Given the description of an element on the screen output the (x, y) to click on. 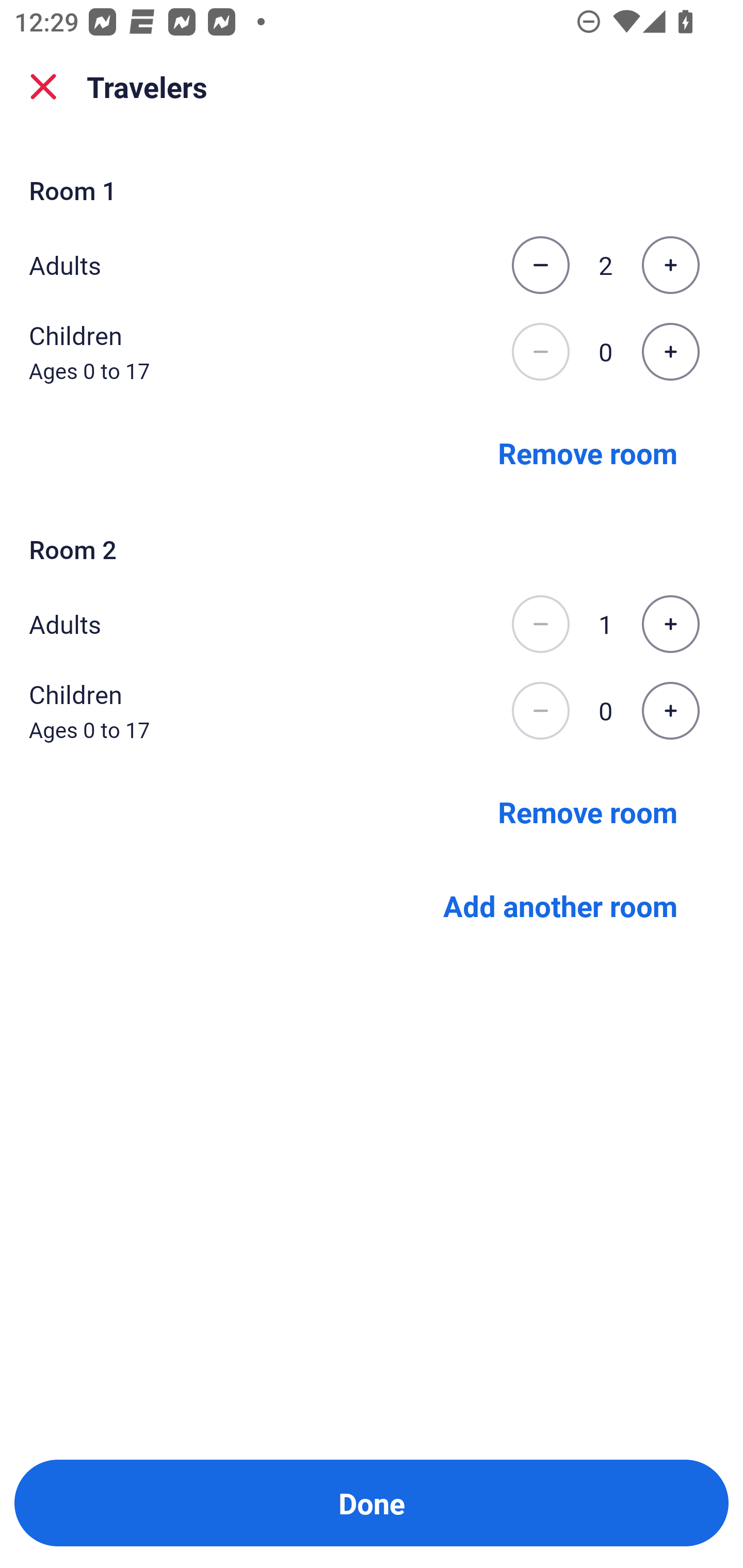
close (43, 86)
Decrease the number of adults (540, 264)
Increase the number of adults (670, 264)
Decrease the number of children (540, 351)
Increase the number of children (670, 351)
Remove room (588, 452)
Decrease the number of adults (540, 623)
Increase the number of adults (670, 623)
Decrease the number of children (540, 710)
Increase the number of children (670, 710)
Remove room (588, 811)
Add another room (560, 905)
Done (371, 1502)
